Given the description of an element on the screen output the (x, y) to click on. 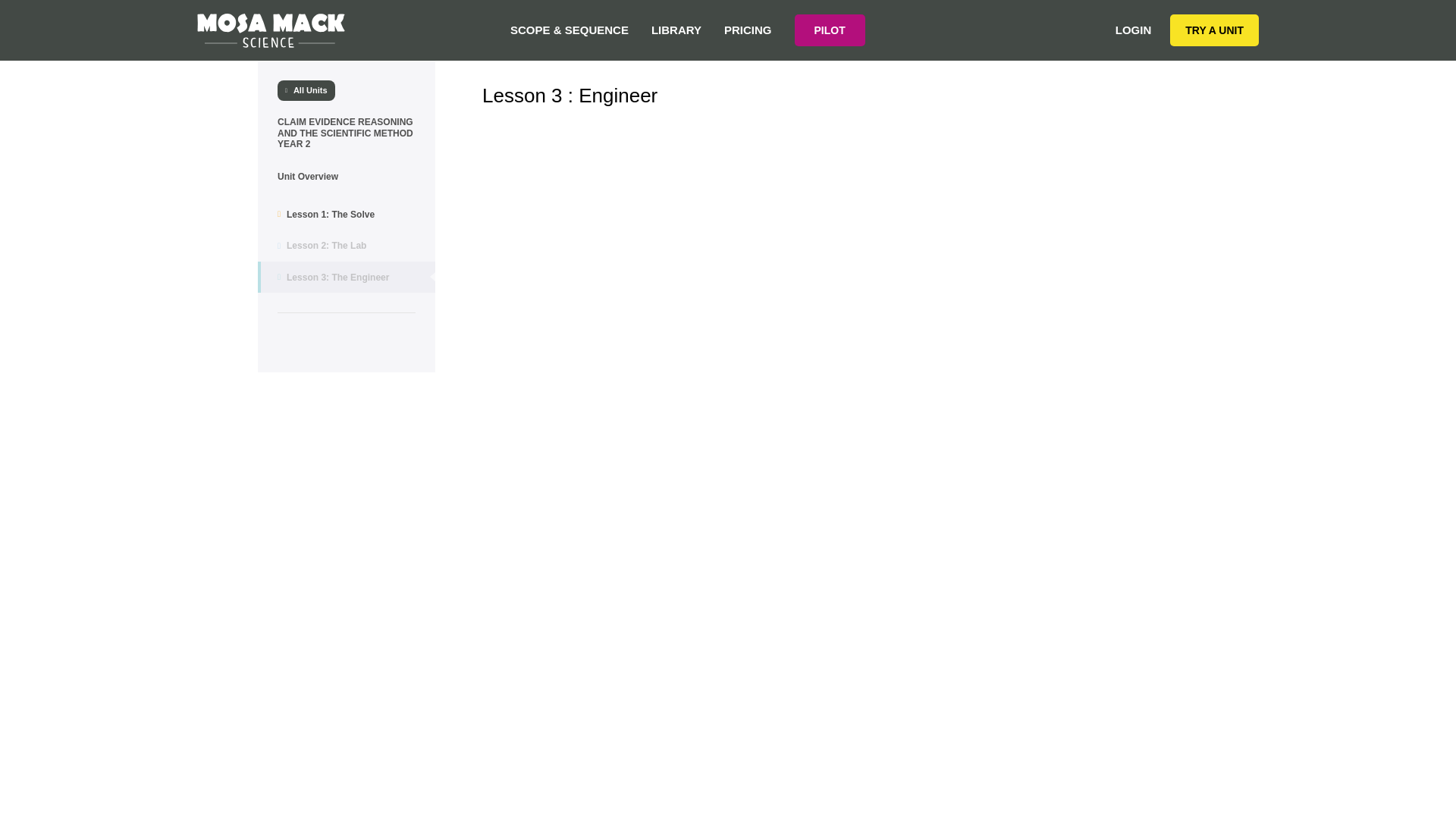
PRICING (747, 29)
LIBRARY (675, 29)
Mosa Mack Science (270, 30)
LOGIN (1133, 29)
PILOT (829, 29)
Lesson 1: The Solve (346, 214)
All Units (306, 90)
Pricing (747, 29)
Library (675, 29)
TRY A UNIT (1214, 29)
